Given the description of an element on the screen output the (x, y) to click on. 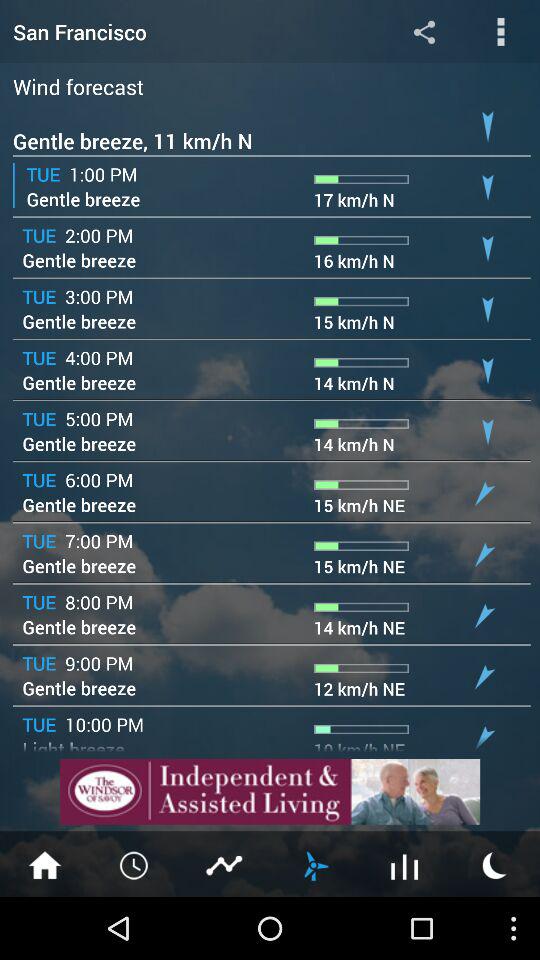
bring up menu (500, 31)
